Given the description of an element on the screen output the (x, y) to click on. 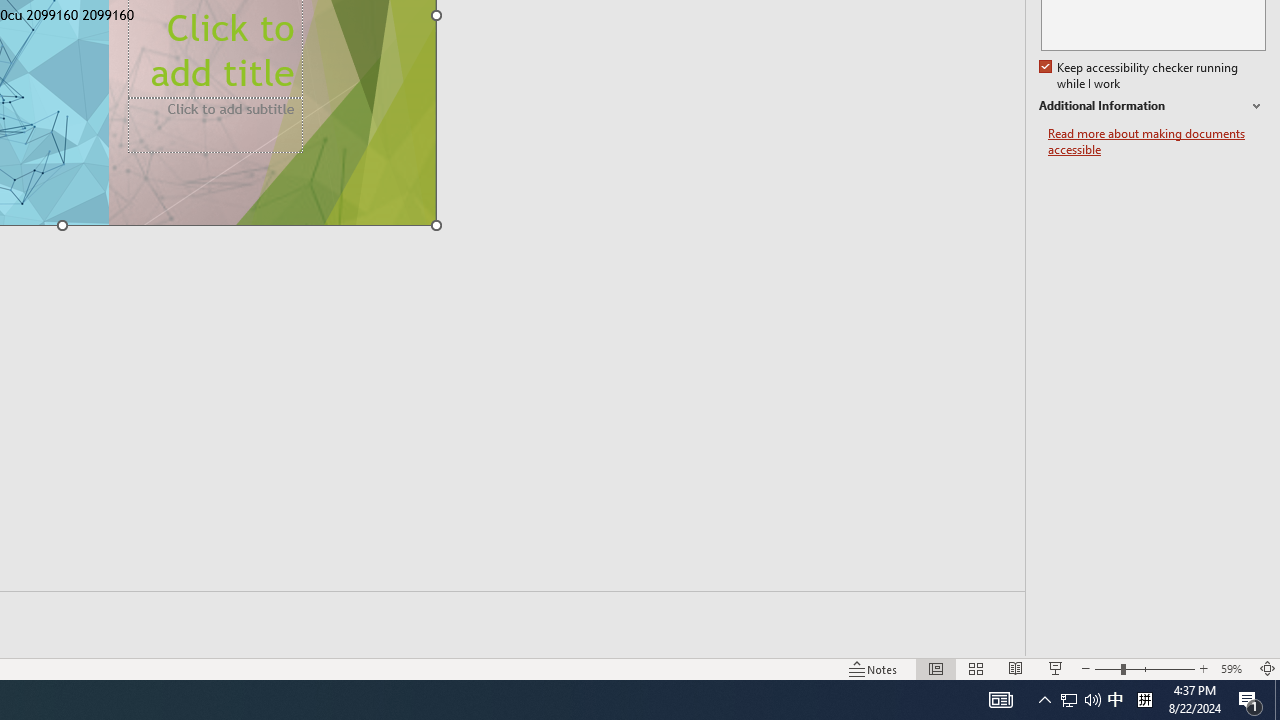
Additional Information (1152, 106)
Keep accessibility checker running while I work (1140, 76)
Read more about making documents accessible (1156, 142)
Zoom 59% (1234, 668)
